Given the description of an element on the screen output the (x, y) to click on. 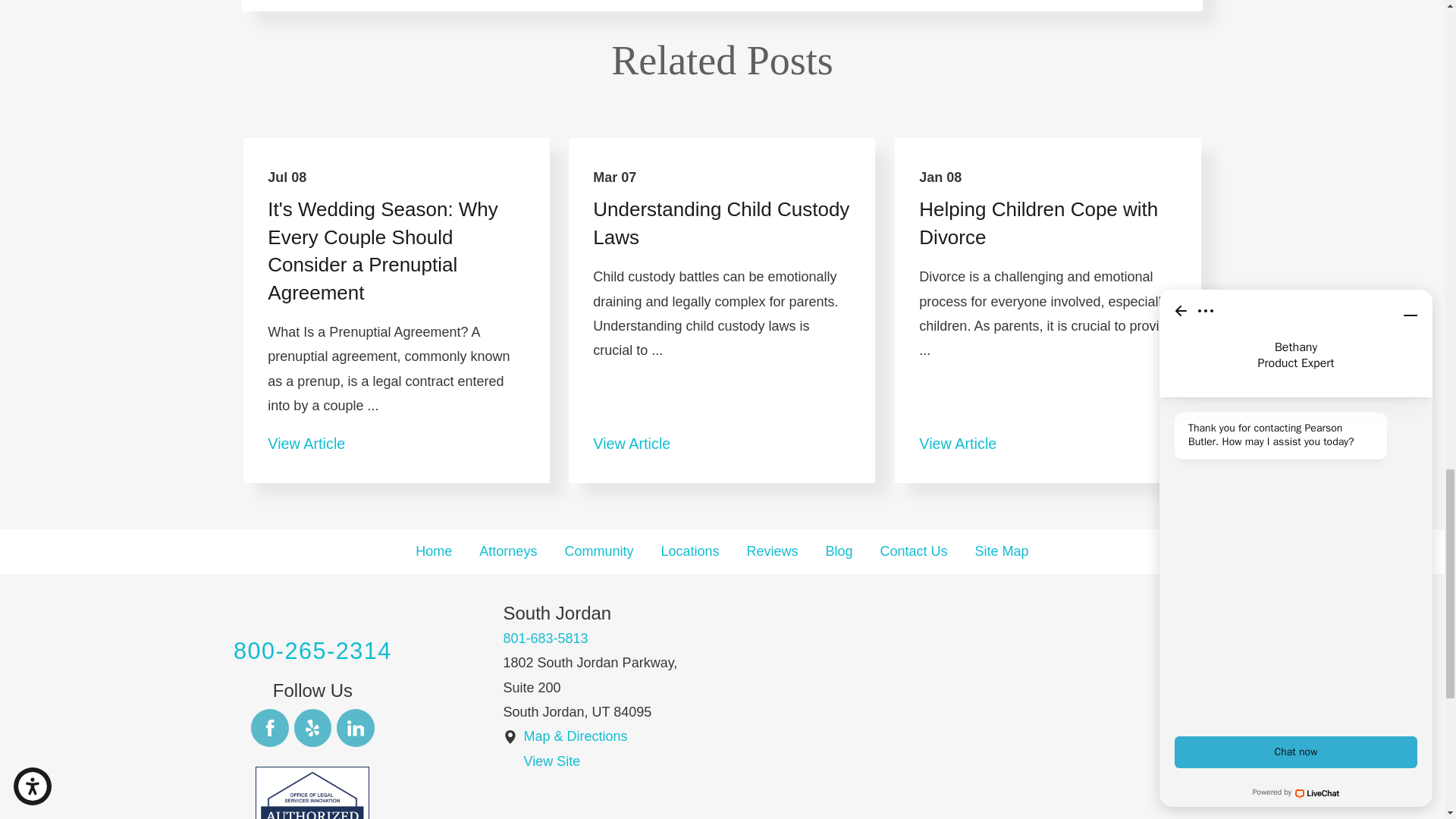
Facebook (269, 727)
Yelp (312, 727)
Site Icon (509, 736)
LinkedIn (355, 727)
